Given the description of an element on the screen output the (x, y) to click on. 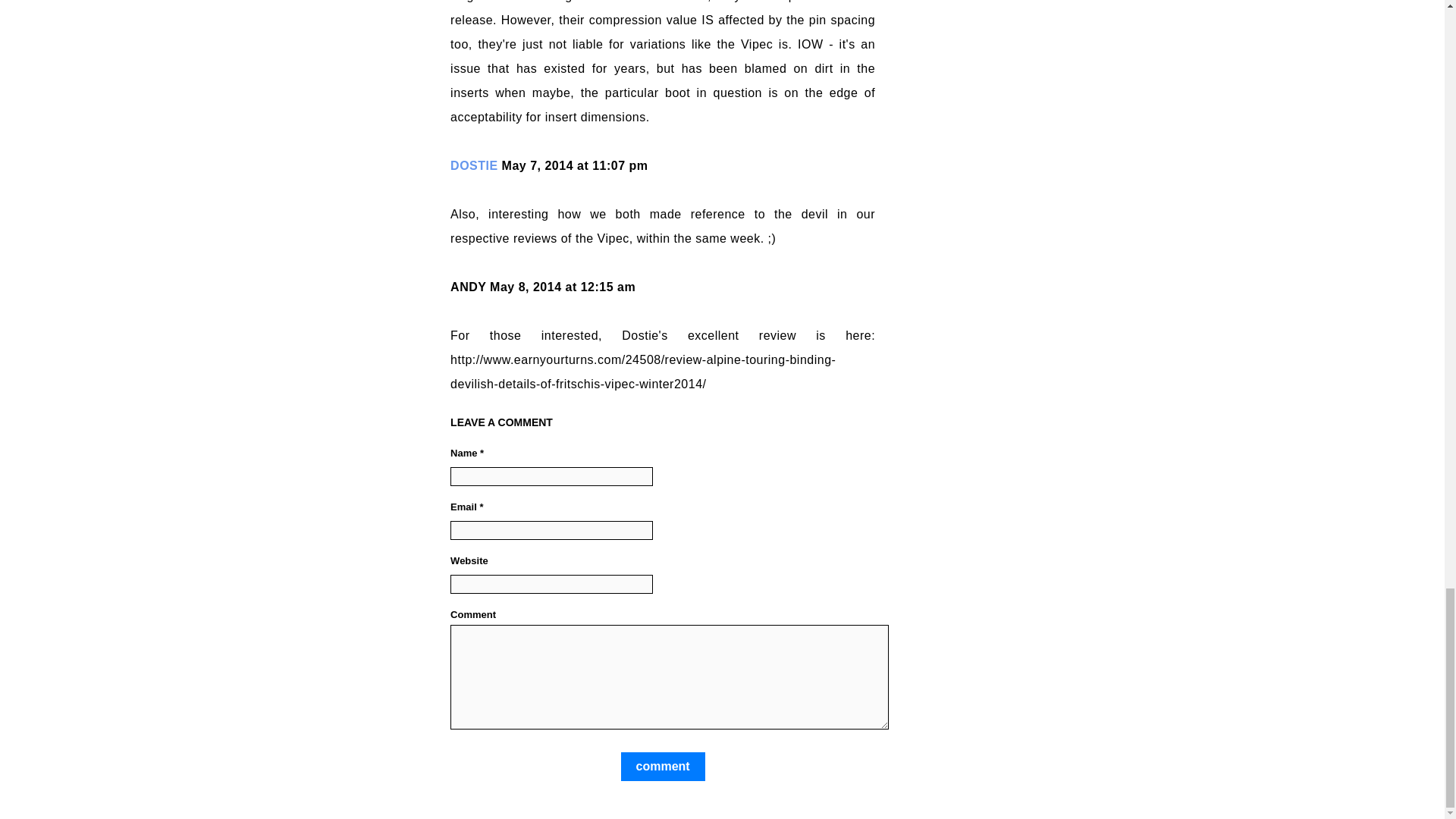
comment (662, 766)
DOSTIE (473, 164)
comment (662, 766)
